Given the description of an element on the screen output the (x, y) to click on. 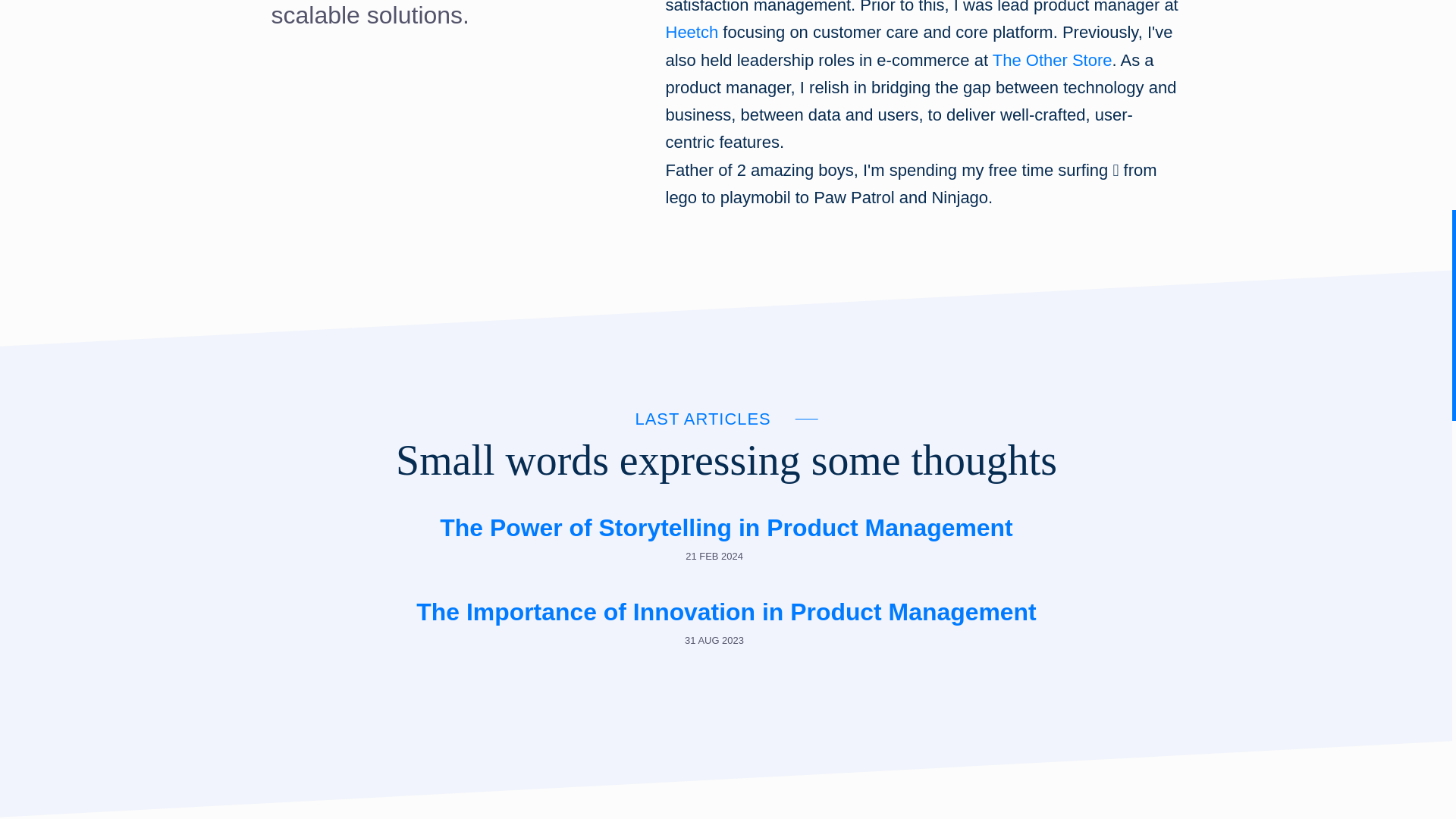
The Power of Storytelling in Product Management (726, 527)
The Importance of Innovation in Product Management (727, 612)
The Other Store (1052, 59)
Heetch (692, 31)
